Given the description of an element on the screen output the (x, y) to click on. 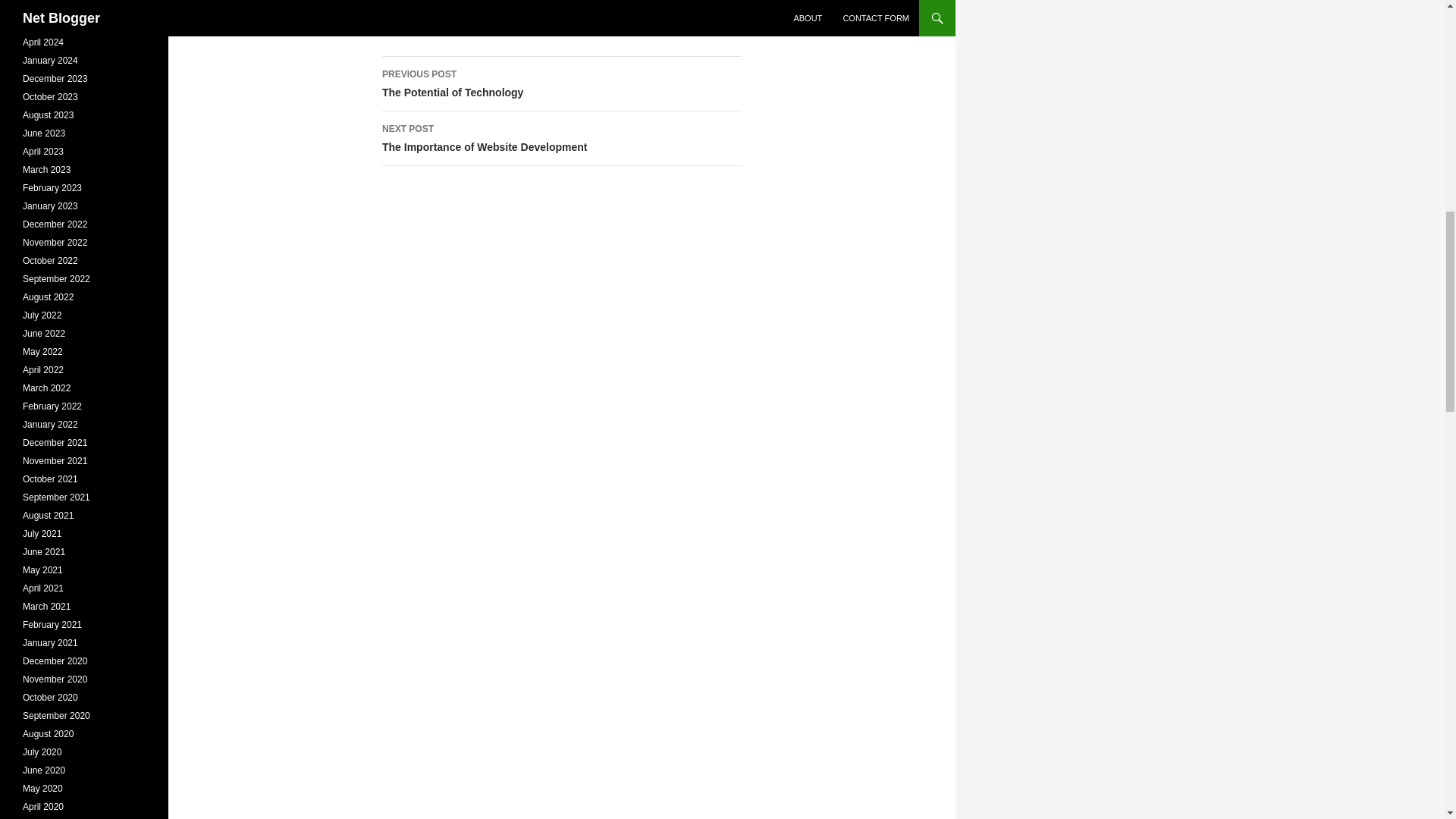
April 2023 (43, 151)
March 2023 (46, 169)
December 2023 (561, 83)
June 2023 (55, 78)
February 2023 (44, 132)
August 2023 (52, 187)
January 2023 (48, 114)
April 2024 (50, 205)
January 2024 (43, 41)
October 2023 (50, 60)
